Given the description of an element on the screen output the (x, y) to click on. 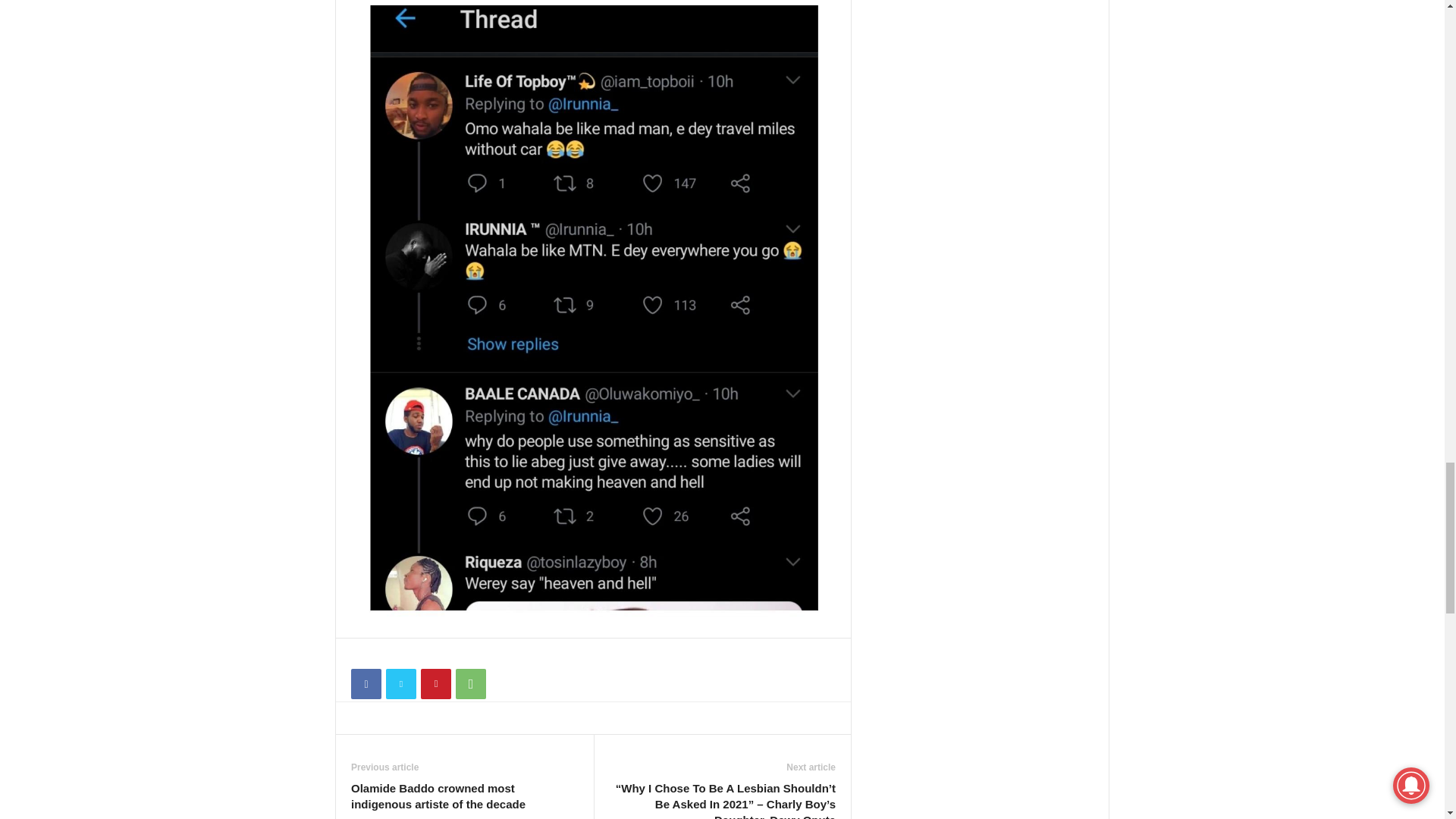
Twitter (400, 684)
WhatsApp (470, 684)
Facebook (365, 684)
Pinterest (435, 684)
